Given the description of an element on the screen output the (x, y) to click on. 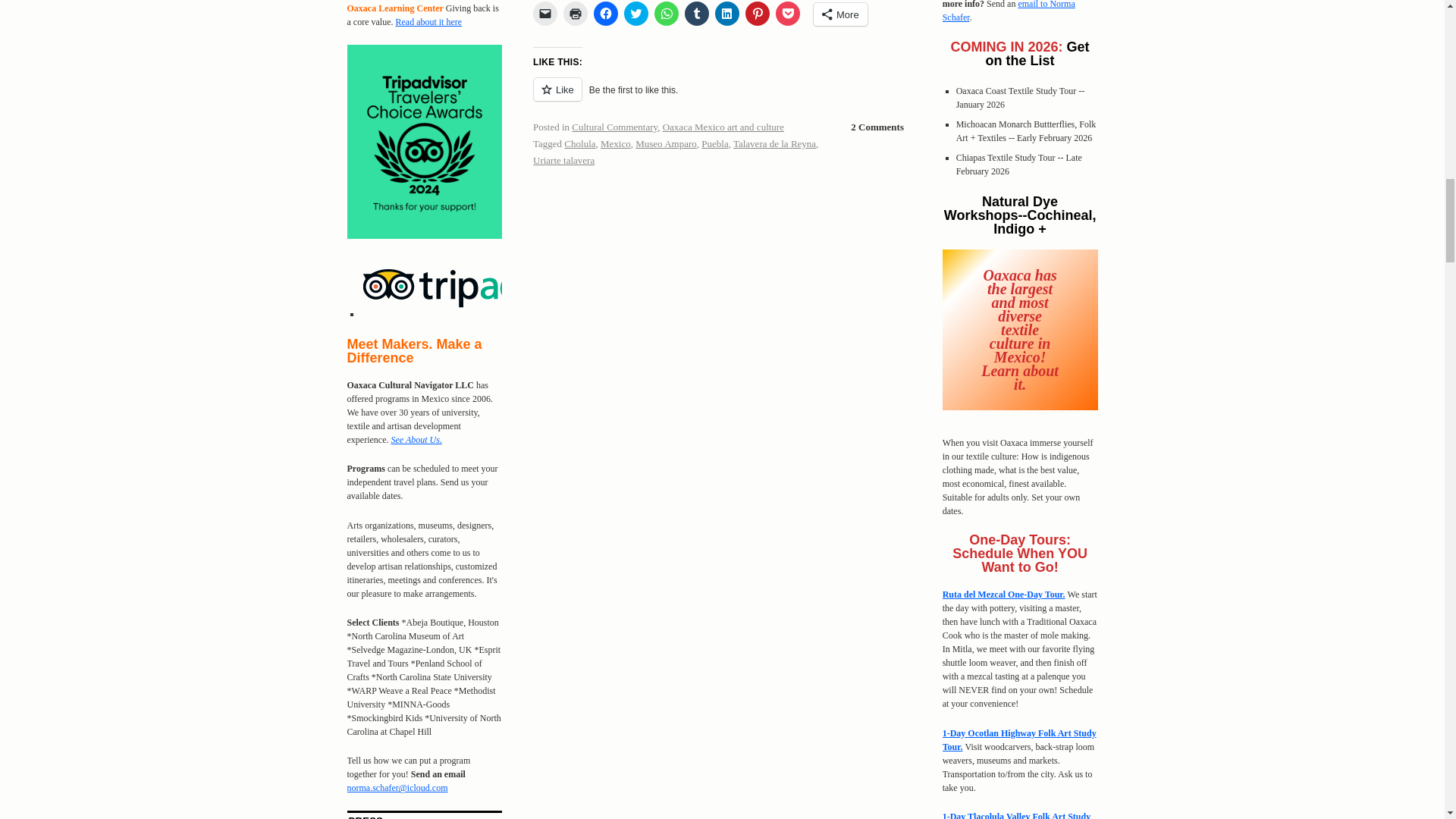
Cultural Commentary (615, 126)
Click to share on Pocket (787, 13)
Click to print (575, 13)
Click to share on Pinterest (757, 13)
Click to share on LinkedIn (726, 13)
Click to email a link to a friend (544, 13)
Like or Reblog (722, 97)
Puebla (714, 143)
Cholula (579, 143)
2 Comments (877, 127)
Click to share on Twitter (635, 13)
Oaxaca Mexico art and culture (723, 126)
More (840, 14)
Talavera de la Reyna (774, 143)
Click to share on WhatsApp (665, 13)
